Given the description of an element on the screen output the (x, y) to click on. 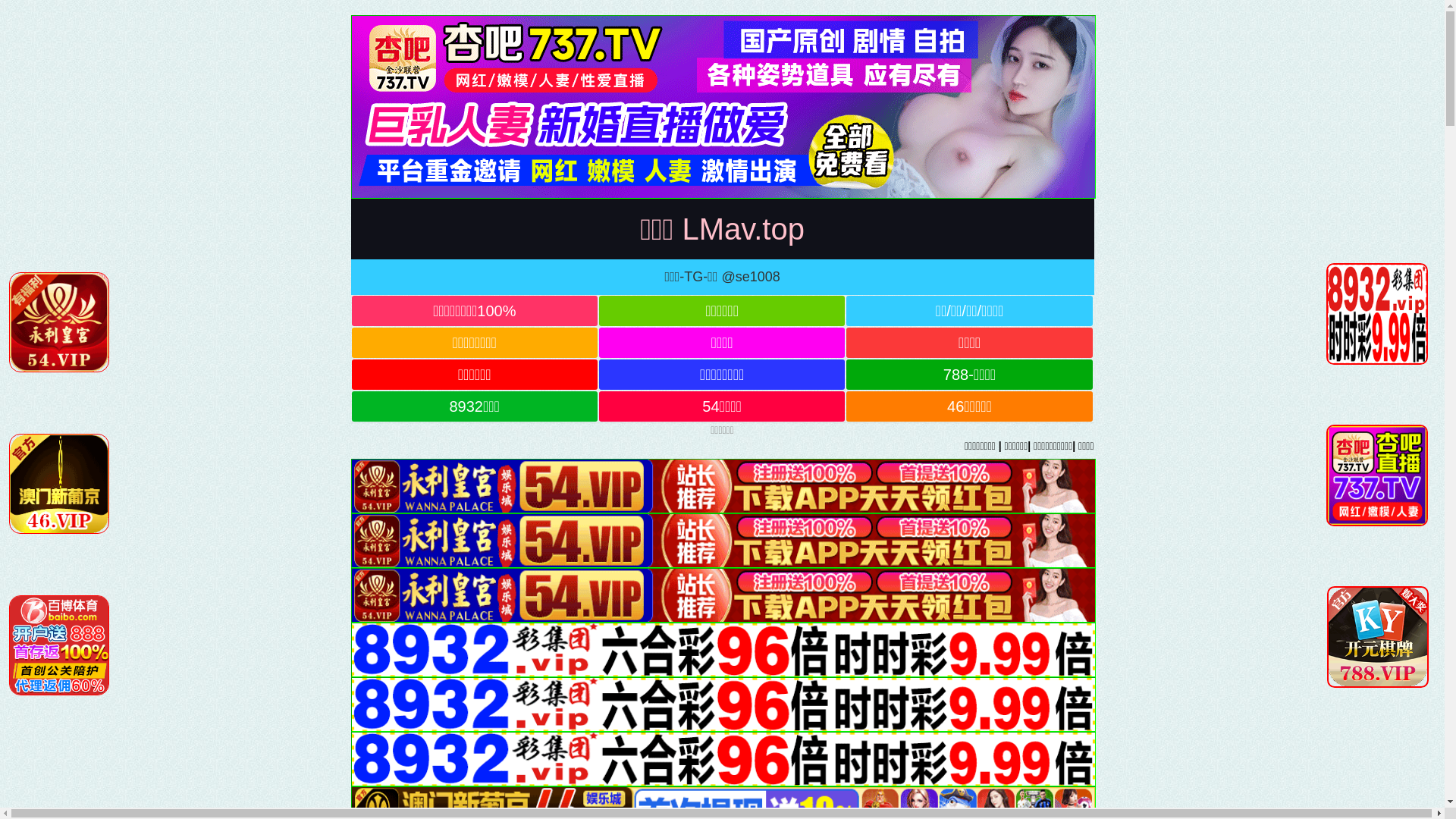
| Element type: text (239, 445)
| Element type: text (811, 445)
| Element type: text (595, 445)
| Element type: text (494, 445)
| Element type: text (522, 445)
| Element type: text (305, 445)
| Element type: text (739, 445)
| Element type: text (838, 445)
| Element type: text (633, 445)
| Element type: text (201, 445)
| Element type: text (448, 445)
| Element type: text (694, 445)
| Element type: text (107, 445)
| Element type: text (785, 445)
| Element type: text (861, 445)
| Element type: text (154, 445)
| Element type: text (389, 445)
| Element type: text (336, 445)
| Element type: text (274, 445)
| Element type: text (47, 445)
